Given the description of an element on the screen output the (x, y) to click on. 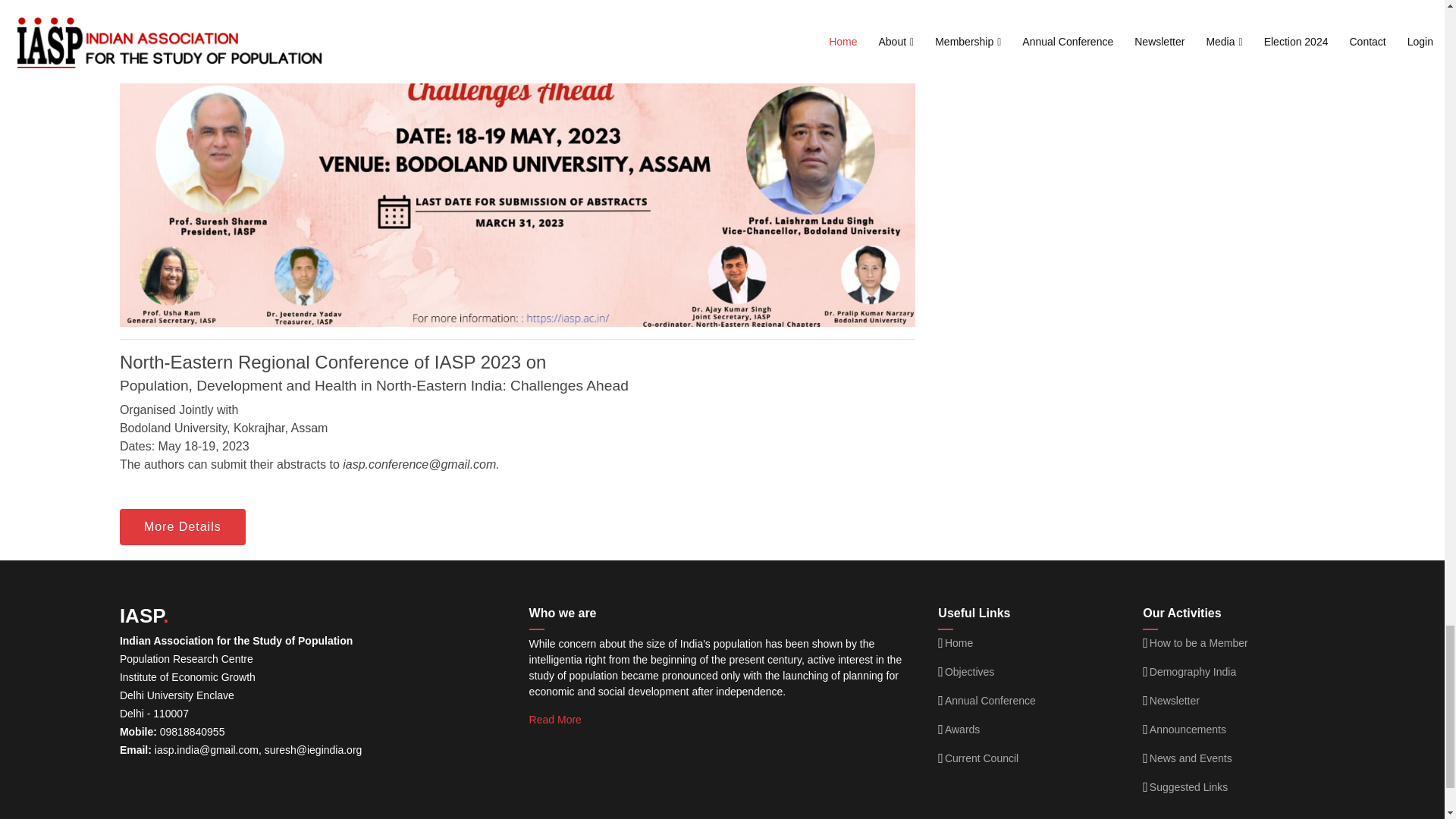
More Details (182, 526)
